Given the description of an element on the screen output the (x, y) to click on. 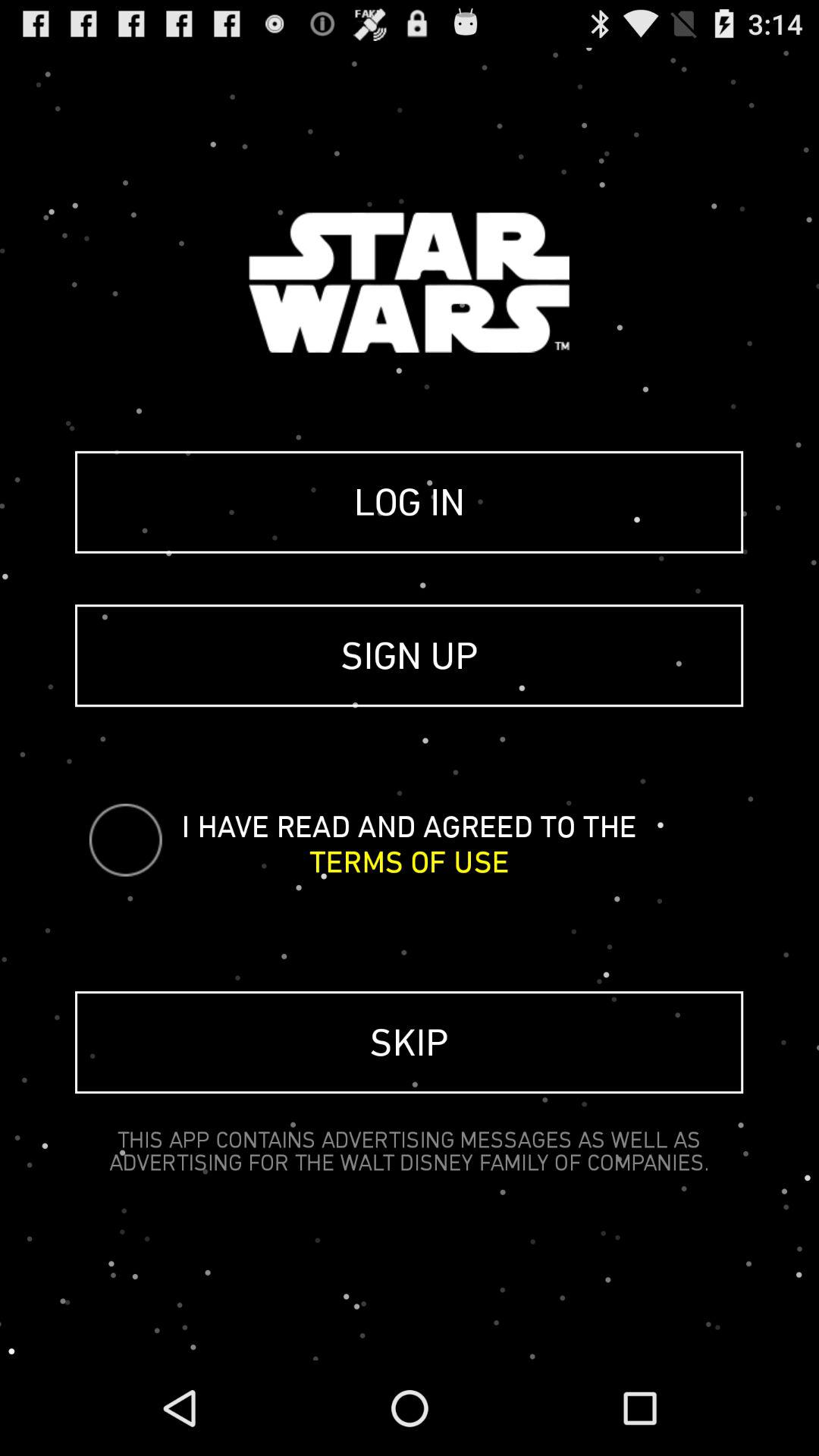
swipe until the log in icon (409, 502)
